Given the description of an element on the screen output the (x, y) to click on. 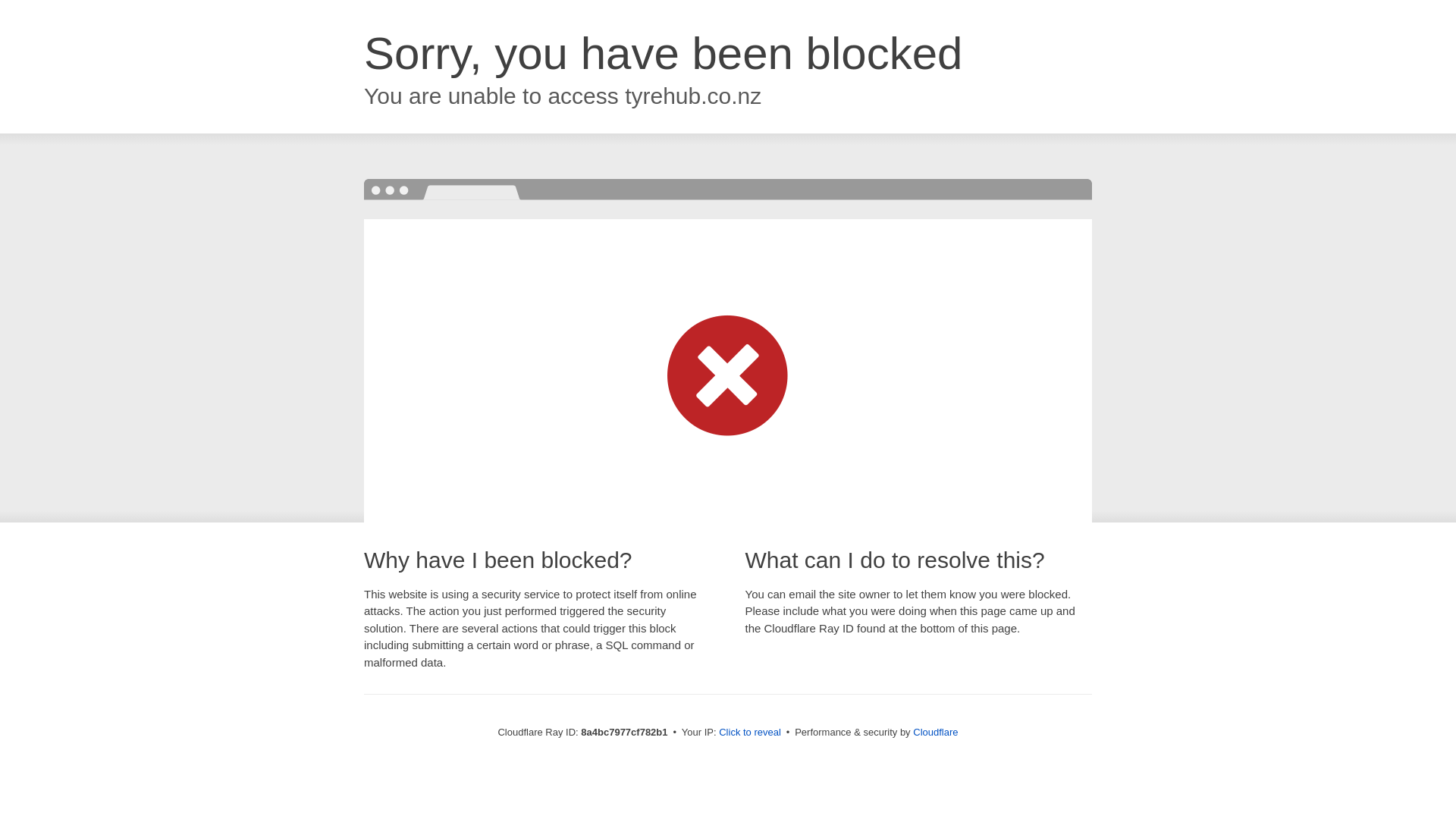
Click to reveal (749, 732)
Cloudflare (935, 731)
